Given the description of an element on the screen output the (x, y) to click on. 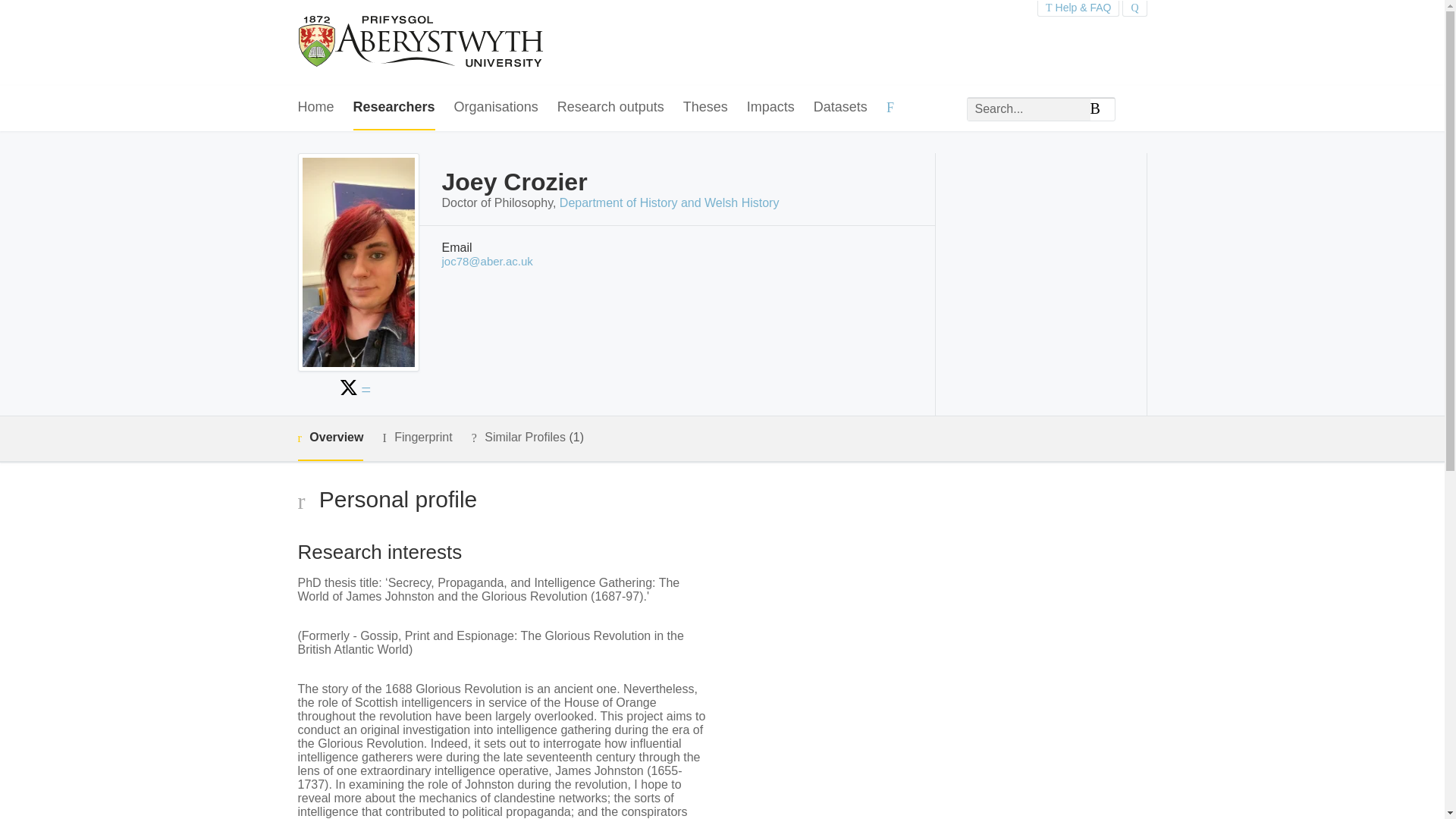
Impacts (770, 107)
X (348, 387)
Research outputs (610, 107)
Organisations (496, 107)
Researchers (394, 107)
Fingerprint (416, 437)
Aberystwyth Research Portal Home (422, 42)
Datasets (840, 107)
Theses (705, 107)
